Given the description of an element on the screen output the (x, y) to click on. 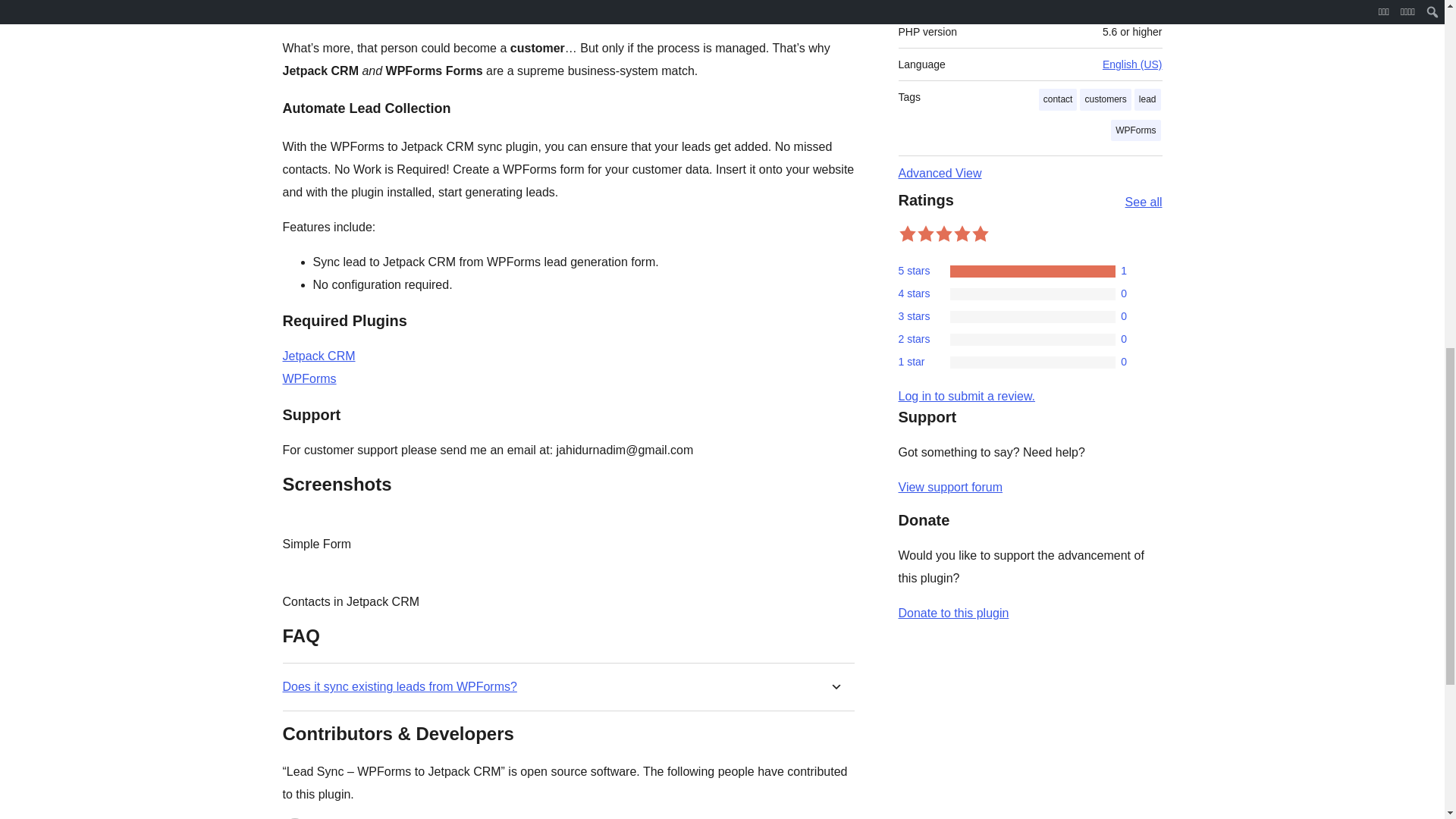
WPForms (309, 378)
Jetpack CRM (318, 355)
Log in to WordPress.org (966, 395)
